Given the description of an element on the screen output the (x, y) to click on. 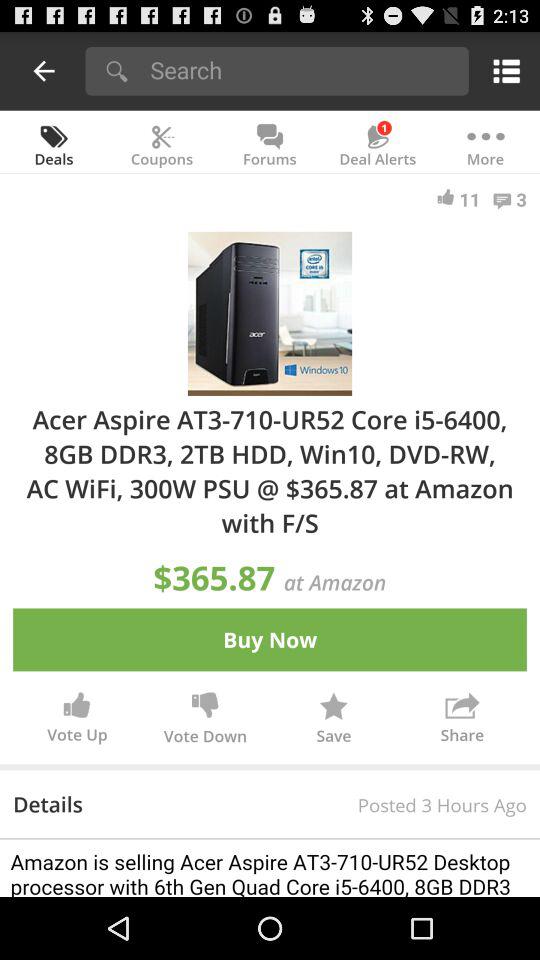
click app below $365.87 app (269, 639)
